Given the description of an element on the screen output the (x, y) to click on. 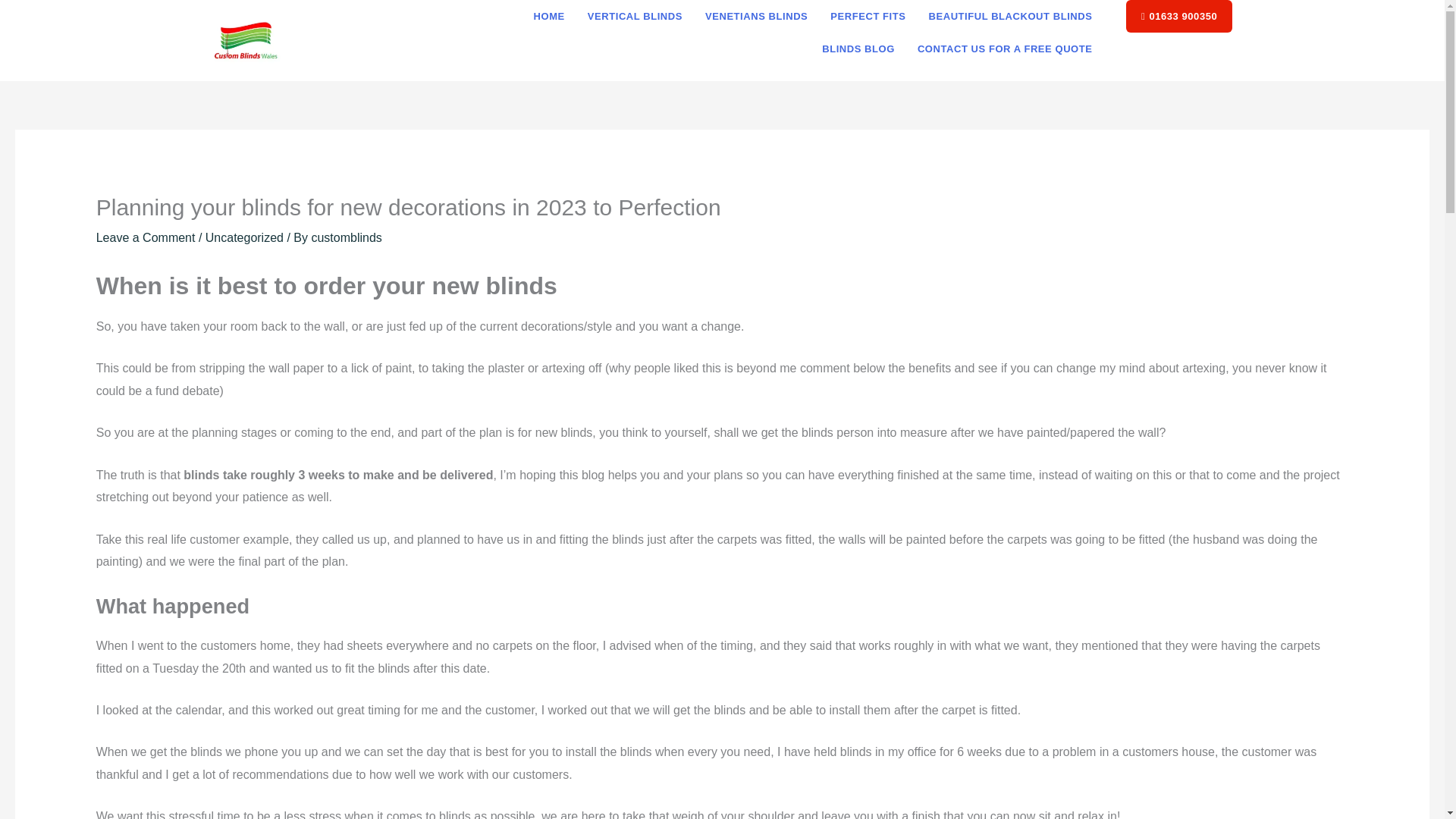
01633 900350 (1178, 16)
customblinds (346, 237)
Uncategorized (244, 237)
VERTICAL BLINDS (635, 16)
View all posts by customblinds (346, 237)
PERFECT FITS (867, 16)
VENETIANS BLINDS (756, 16)
Leave a Comment (145, 237)
BEAUTIFUL BLACKOUT BLINDS (1010, 16)
CONTACT US FOR A FREE QUOTE (1004, 48)
